Given the description of an element on the screen output the (x, y) to click on. 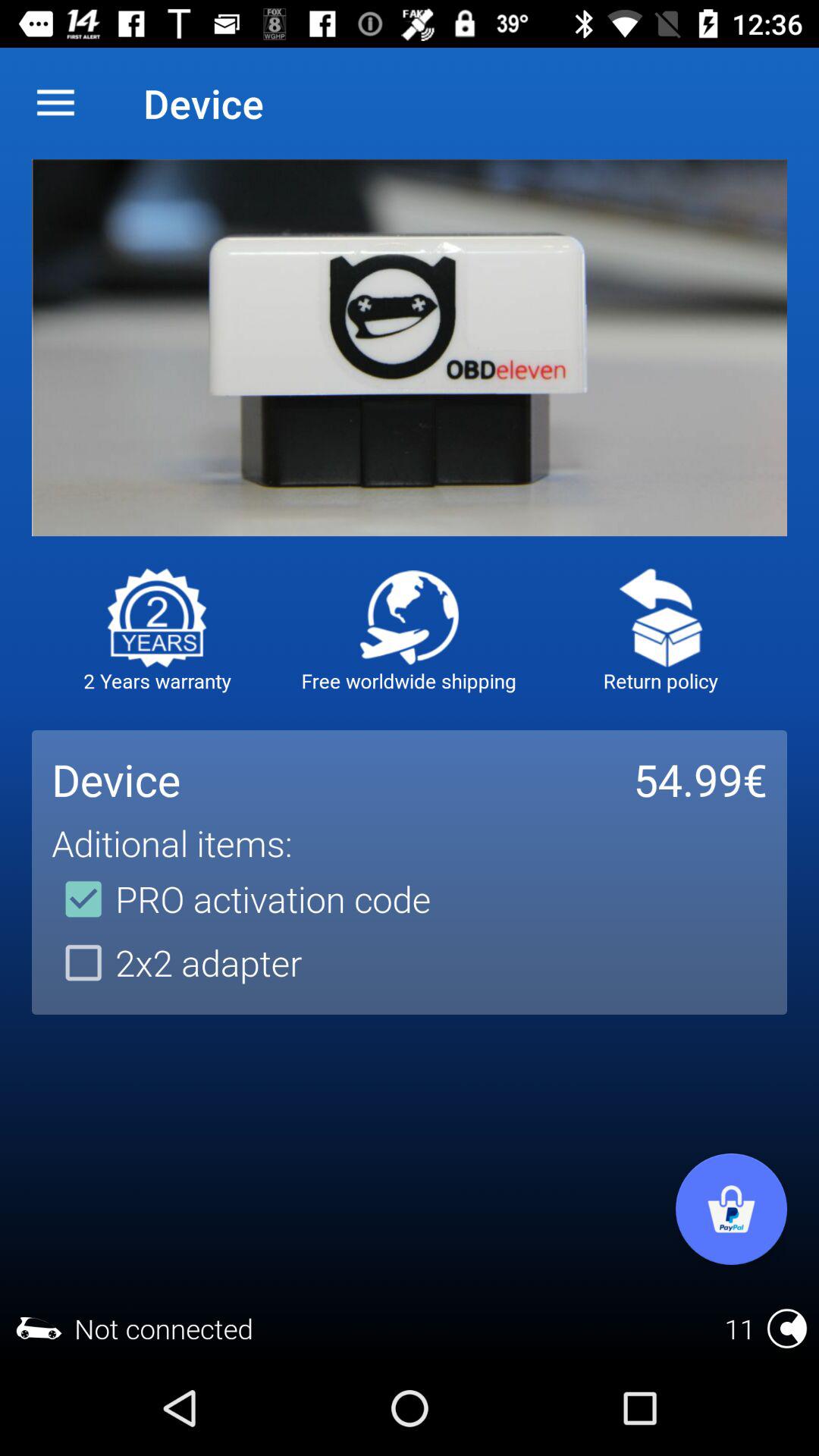
tap item above the 2x2 adapter (241, 899)
